Given the description of an element on the screen output the (x, y) to click on. 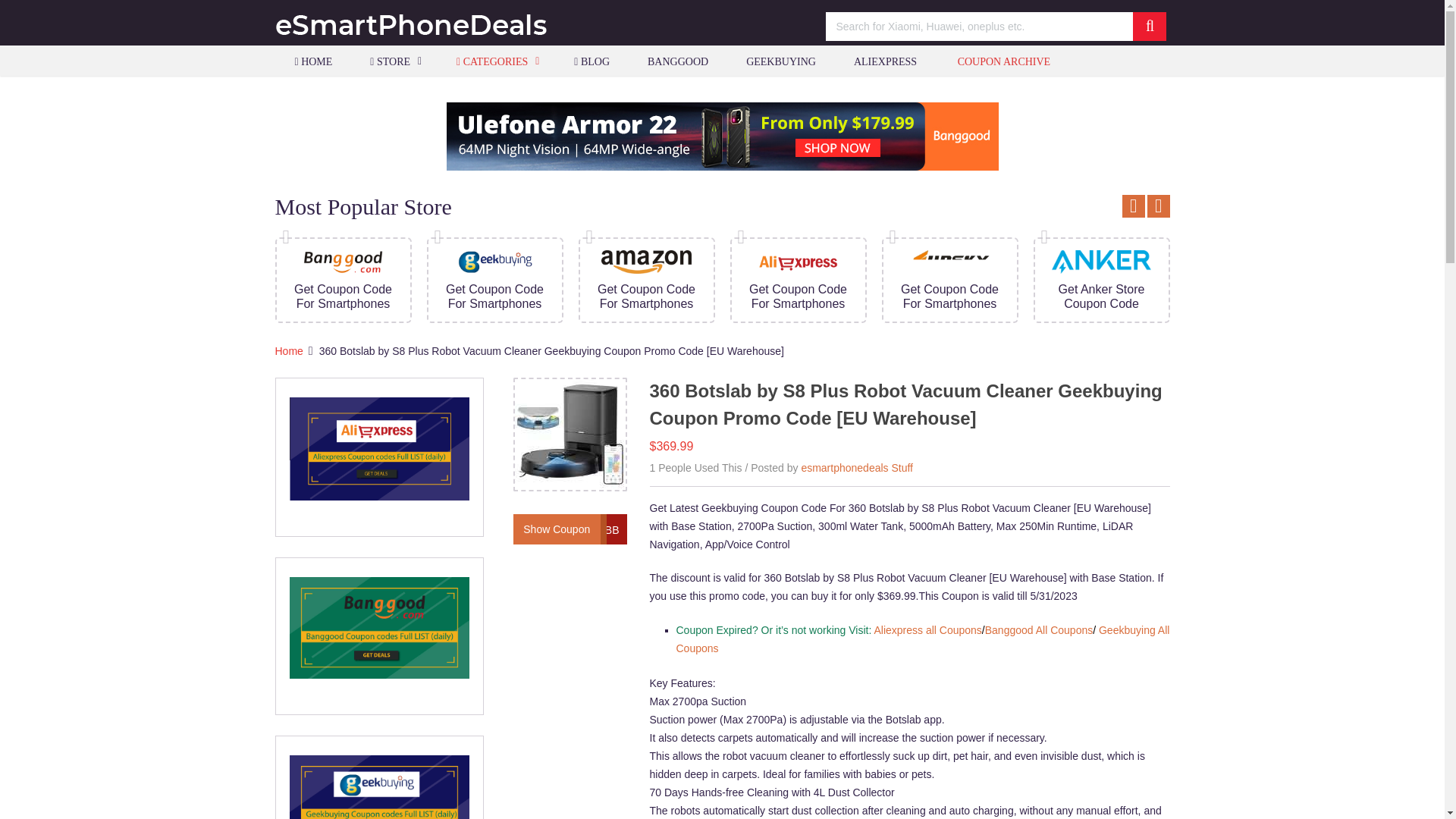
HOME (312, 60)
STORE (393, 60)
CATEGORIES (495, 60)
